Given the description of an element on the screen output the (x, y) to click on. 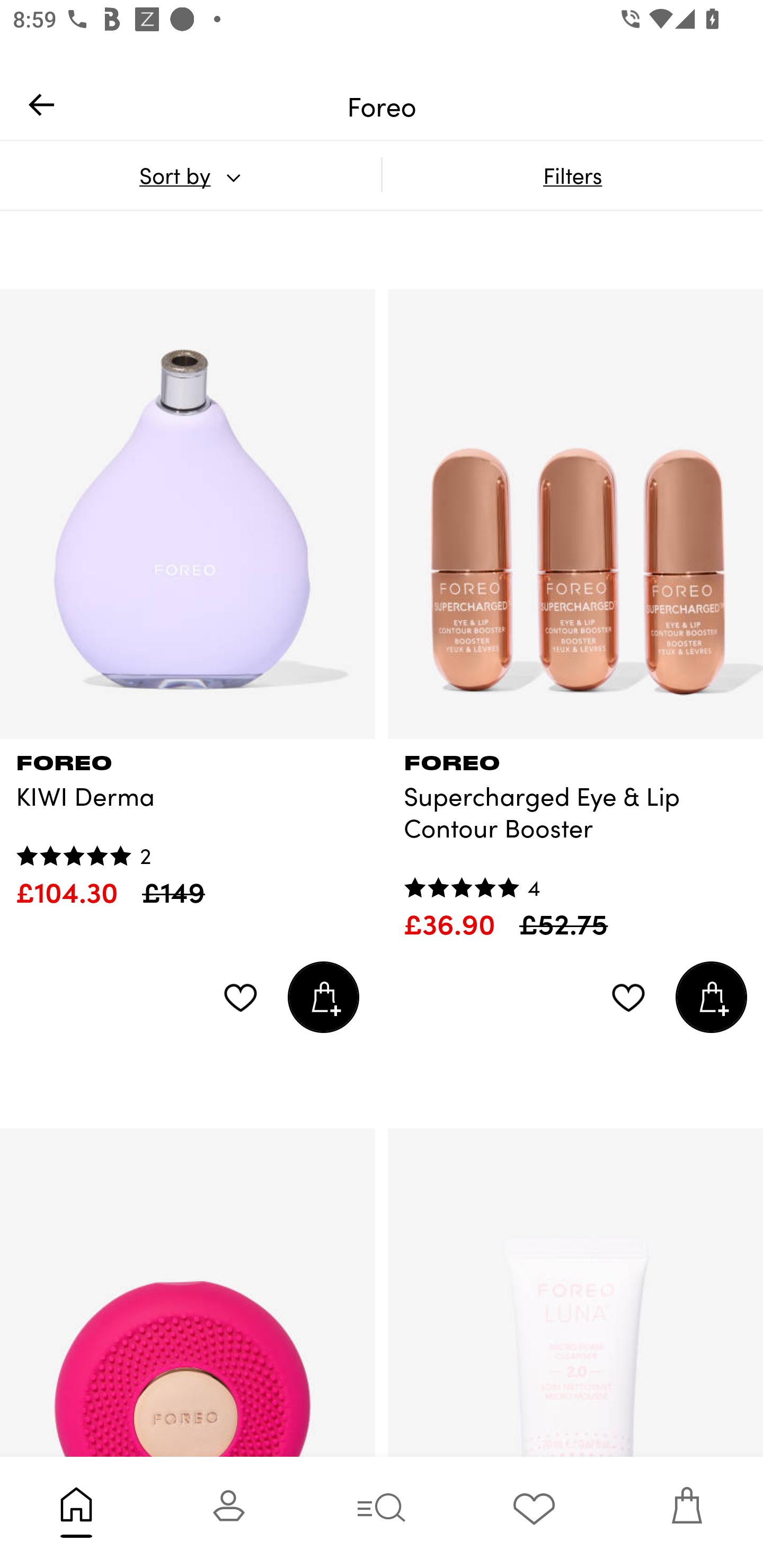
Sort by (190, 174)
Filters (572, 174)
FOREO KIWI Derma 2 £104.30 £149 (187, 824)
